Given the description of an element on the screen output the (x, y) to click on. 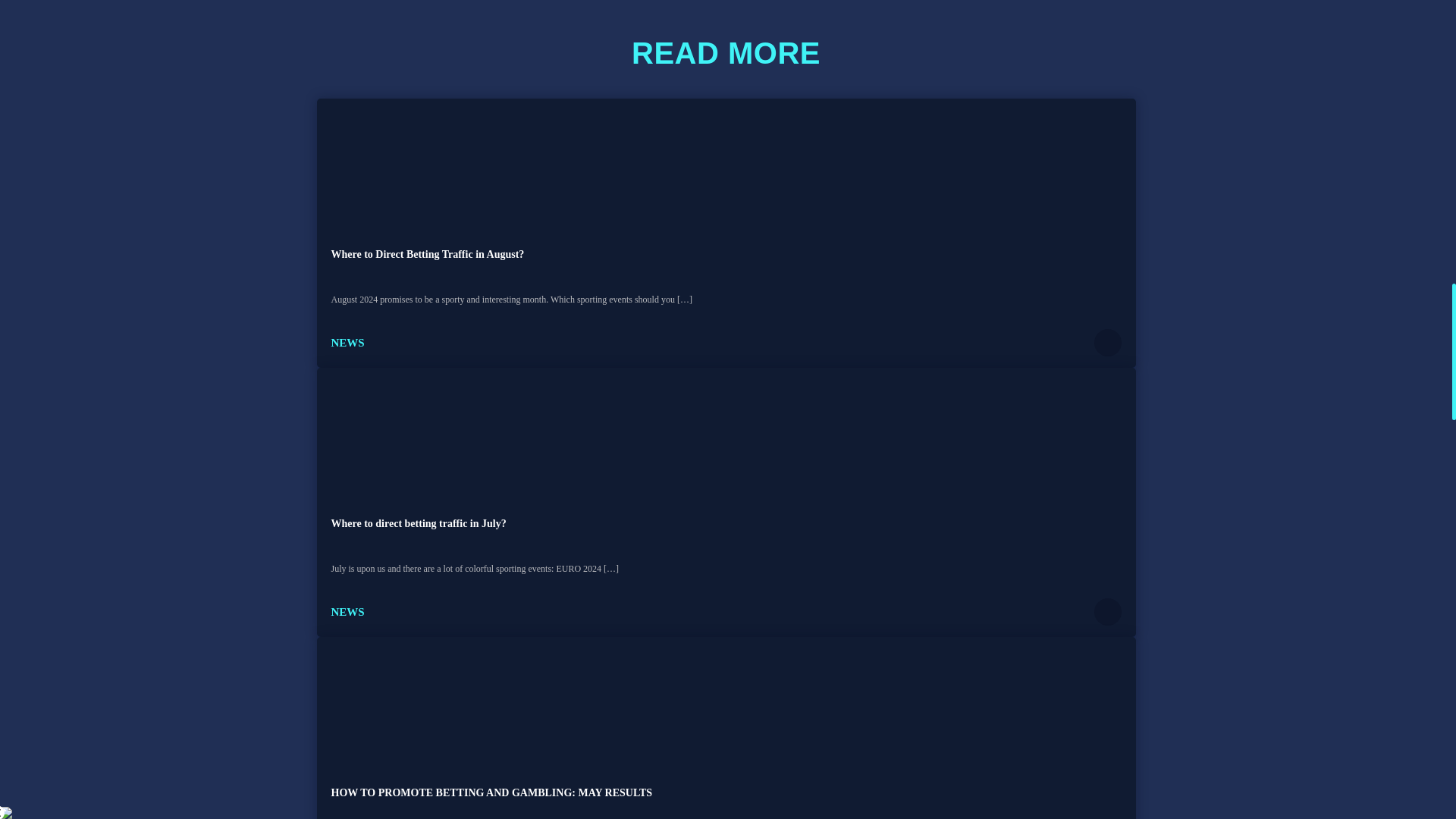
Where to Direct Betting Traffic in August? (427, 254)
NEWS (347, 611)
NEWS (347, 342)
Where to direct betting traffic in July? (417, 523)
HOW TO PROMOTE BETTING AND GAMBLING: MAY RESULTS (491, 792)
